Given the description of an element on the screen output the (x, y) to click on. 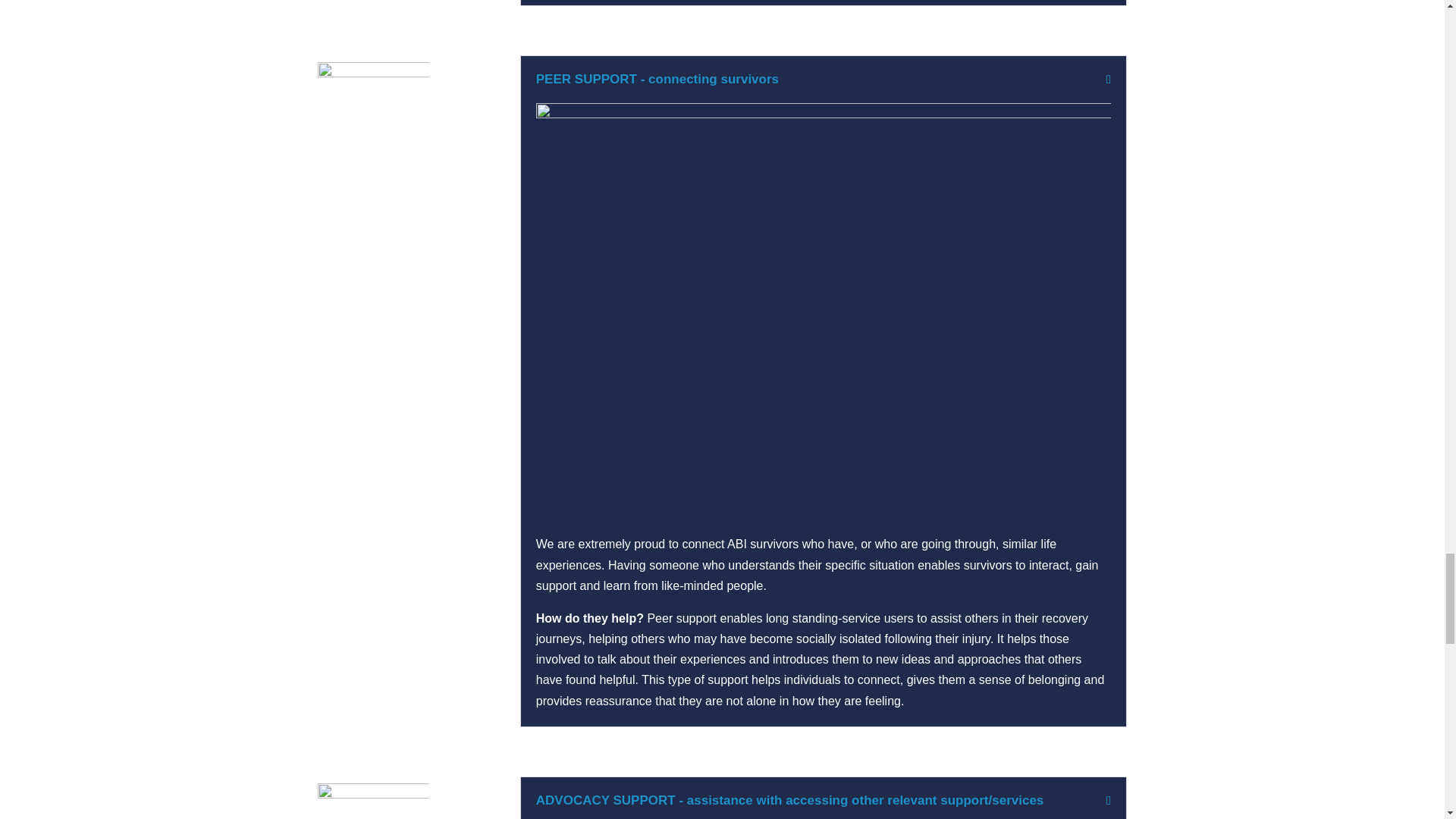
Peer-support-icon (373, 116)
